Given the description of an element on the screen output the (x, y) to click on. 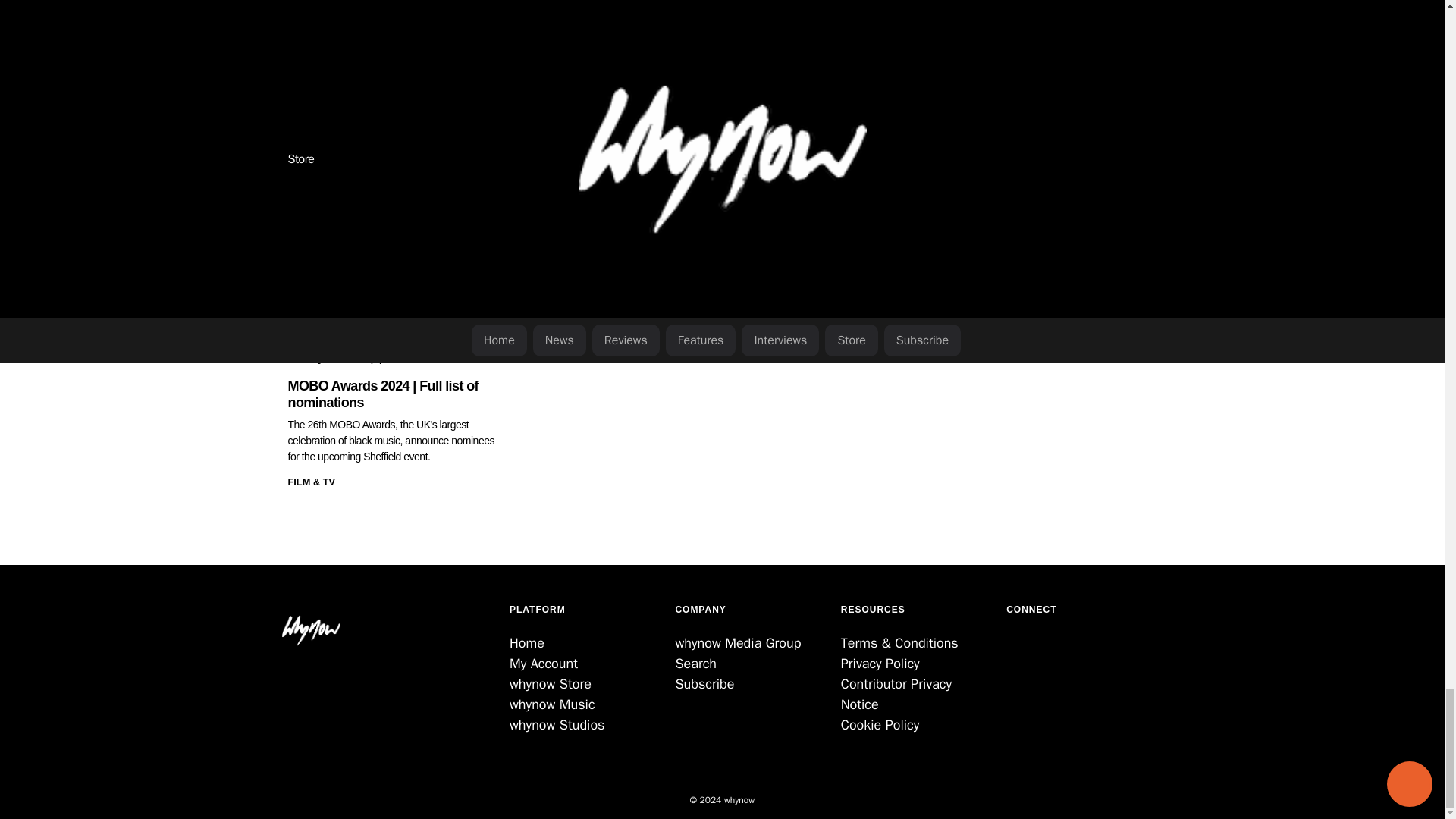
CULTURE (317, 87)
Fashion (382, 87)
PEOPLE (446, 87)
Culture (317, 87)
People (446, 87)
logged in (375, 185)
FASHION (382, 87)
